Given the description of an element on the screen output the (x, y) to click on. 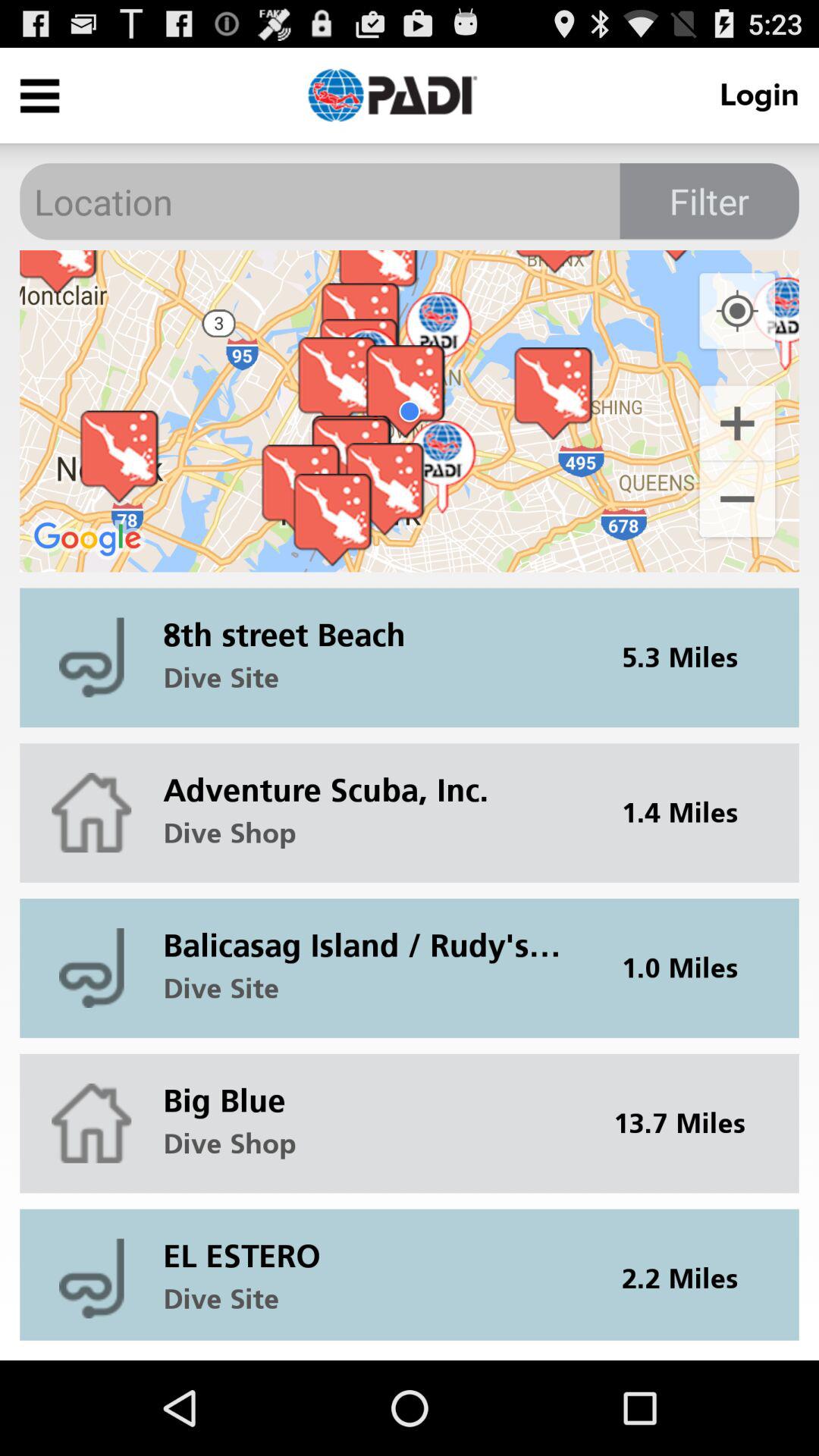
turn on icon to the left of 13.7 miles icon (371, 1088)
